Given the description of an element on the screen output the (x, y) to click on. 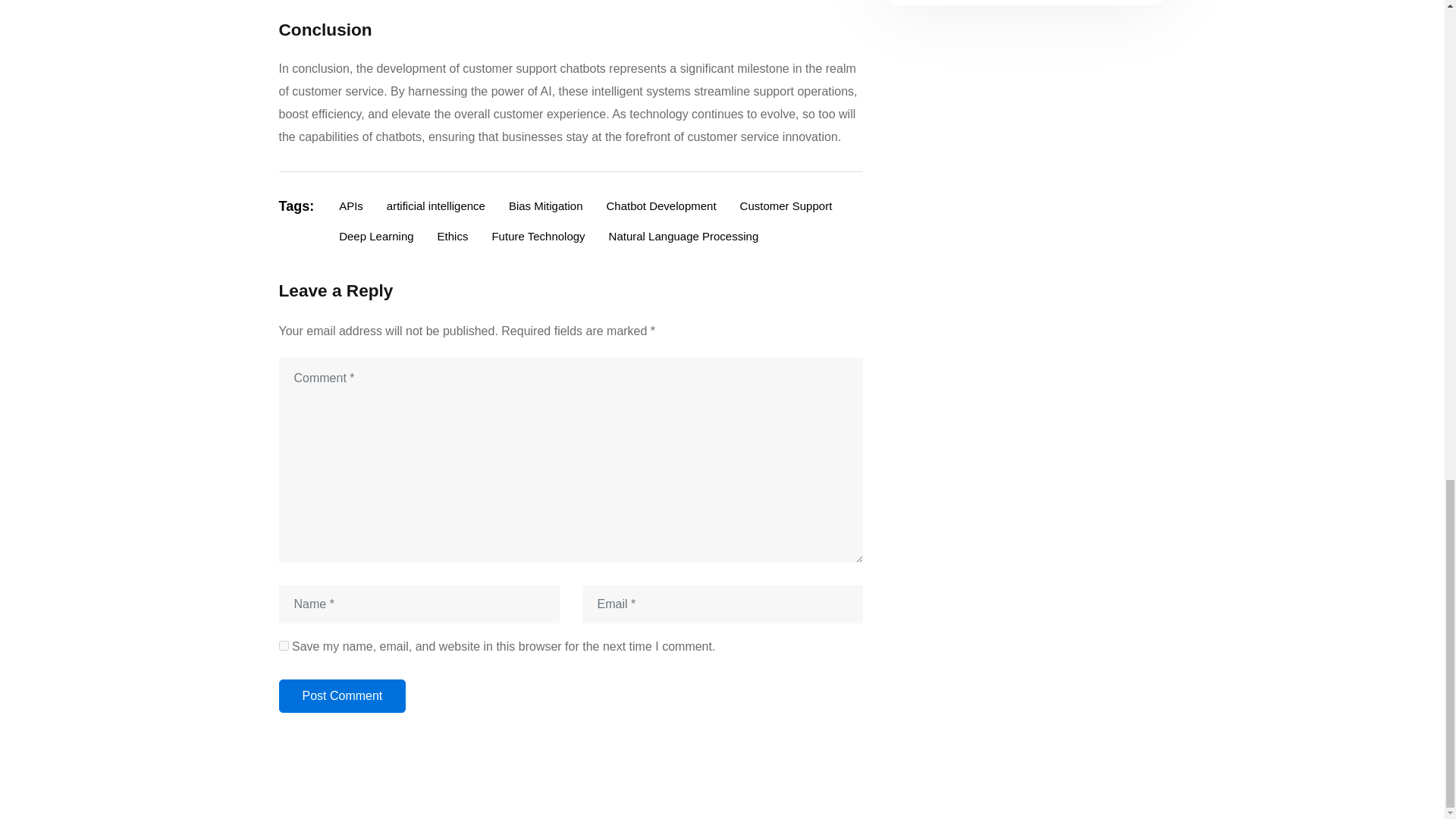
Deep Learning (376, 236)
artificial intelligence (436, 205)
APIs (350, 205)
Future Technology (537, 236)
yes (283, 645)
Customer Support (786, 205)
Ethics (453, 236)
Chatbot Development (660, 205)
Post Comment (342, 695)
Bias Mitigation (545, 205)
Post Comment (342, 695)
Natural Language Processing (683, 236)
